Given the description of an element on the screen output the (x, y) to click on. 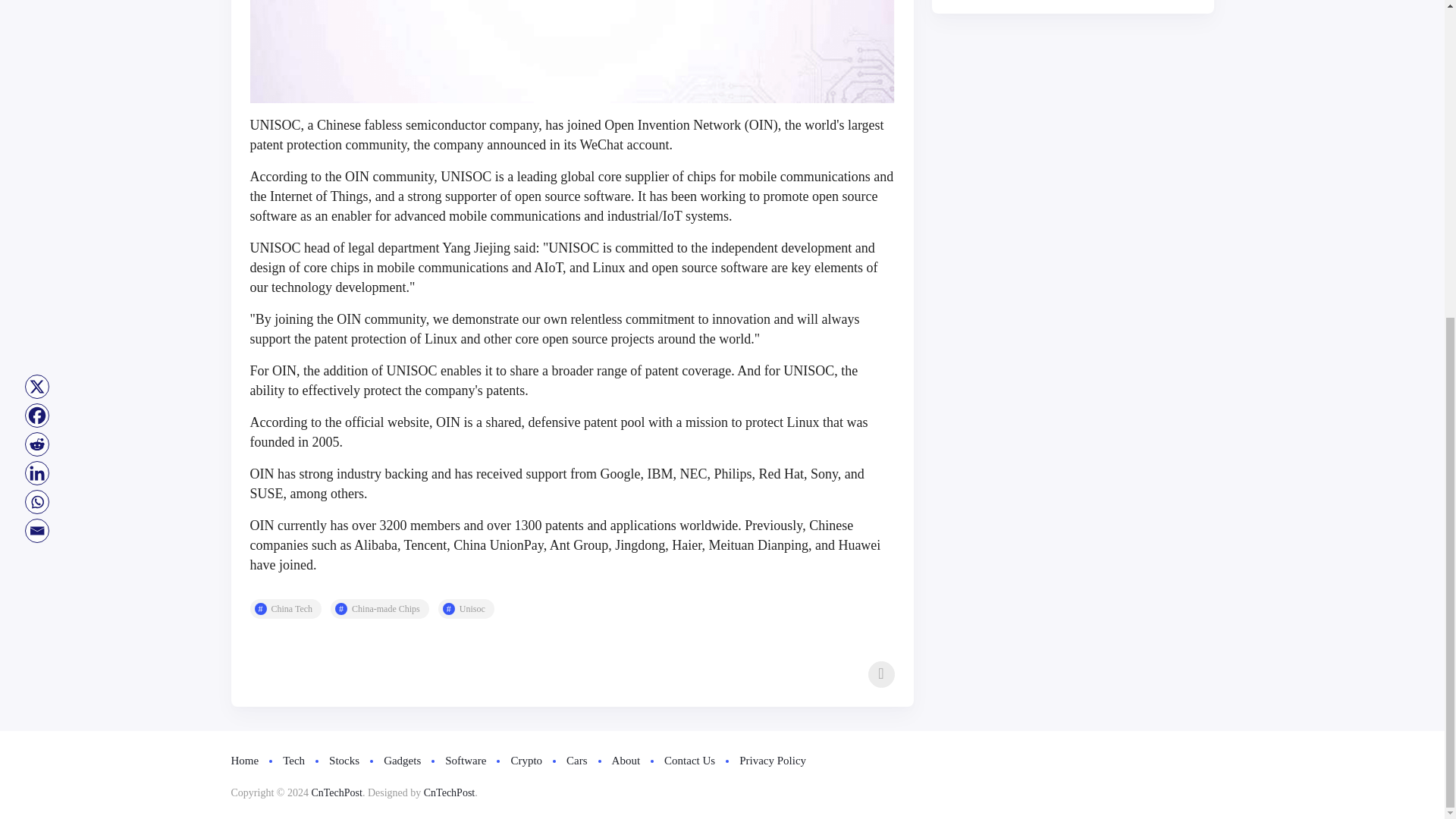
CnTechPost (448, 792)
Email (36, 18)
Software (465, 760)
Crypto (526, 760)
China-made Chips (379, 608)
Unisoc (466, 608)
CnTechPost (336, 792)
Home (244, 760)
Tech (293, 760)
Whatsapp (36, 2)
